Given the description of an element on the screen output the (x, y) to click on. 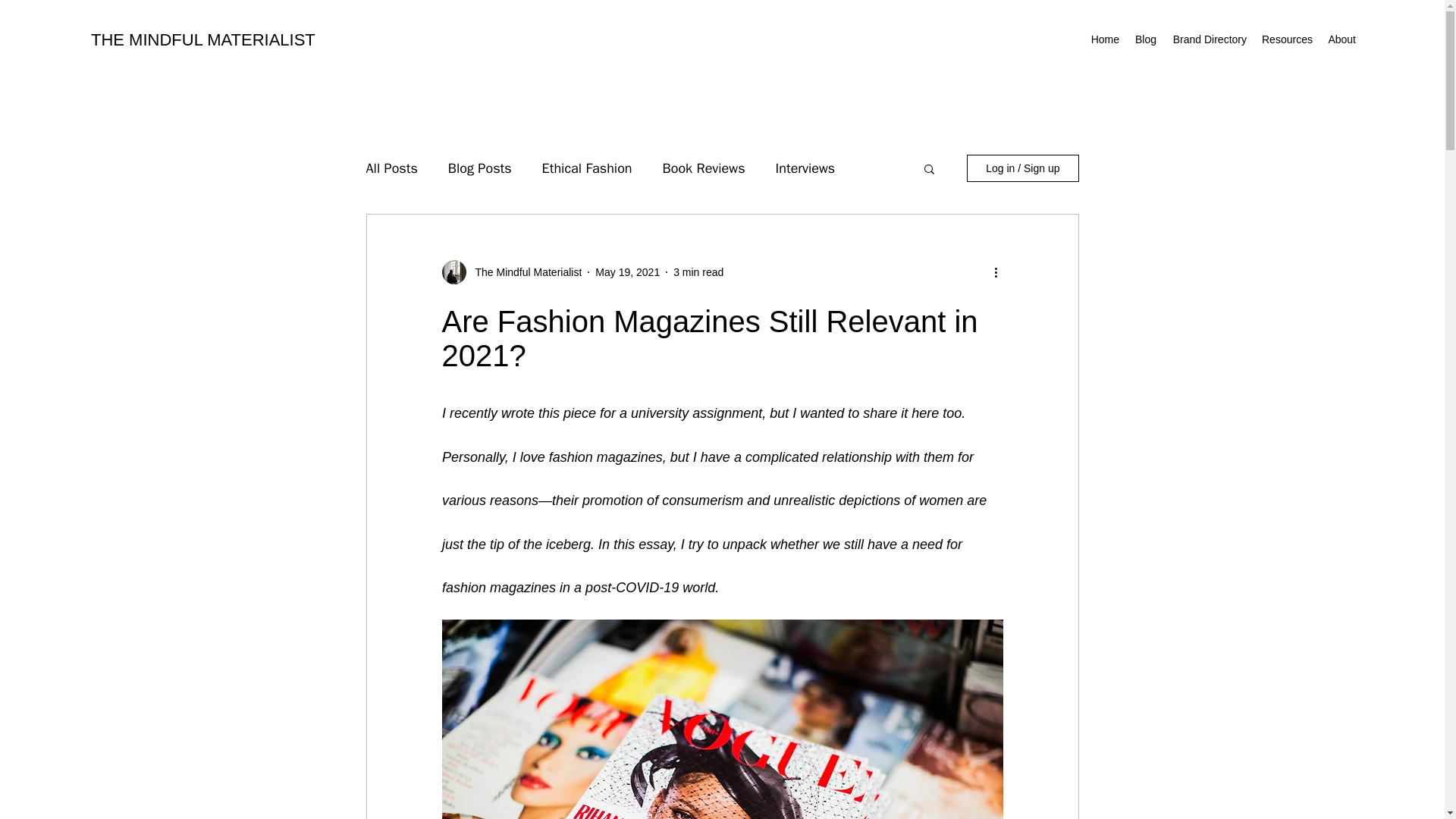
Home (1104, 38)
May 19, 2021 (627, 271)
Book Reviews (703, 167)
The Mindful Materialist (522, 271)
Interviews (804, 167)
All Posts (390, 167)
Resources (1285, 38)
Brand Directory (1208, 38)
Blog Posts (480, 167)
Ethical Fashion (586, 167)
3 min read (697, 271)
Blog (1144, 38)
About (1339, 38)
THE MINDFUL MATERIALIST (202, 39)
